Given the description of an element on the screen output the (x, y) to click on. 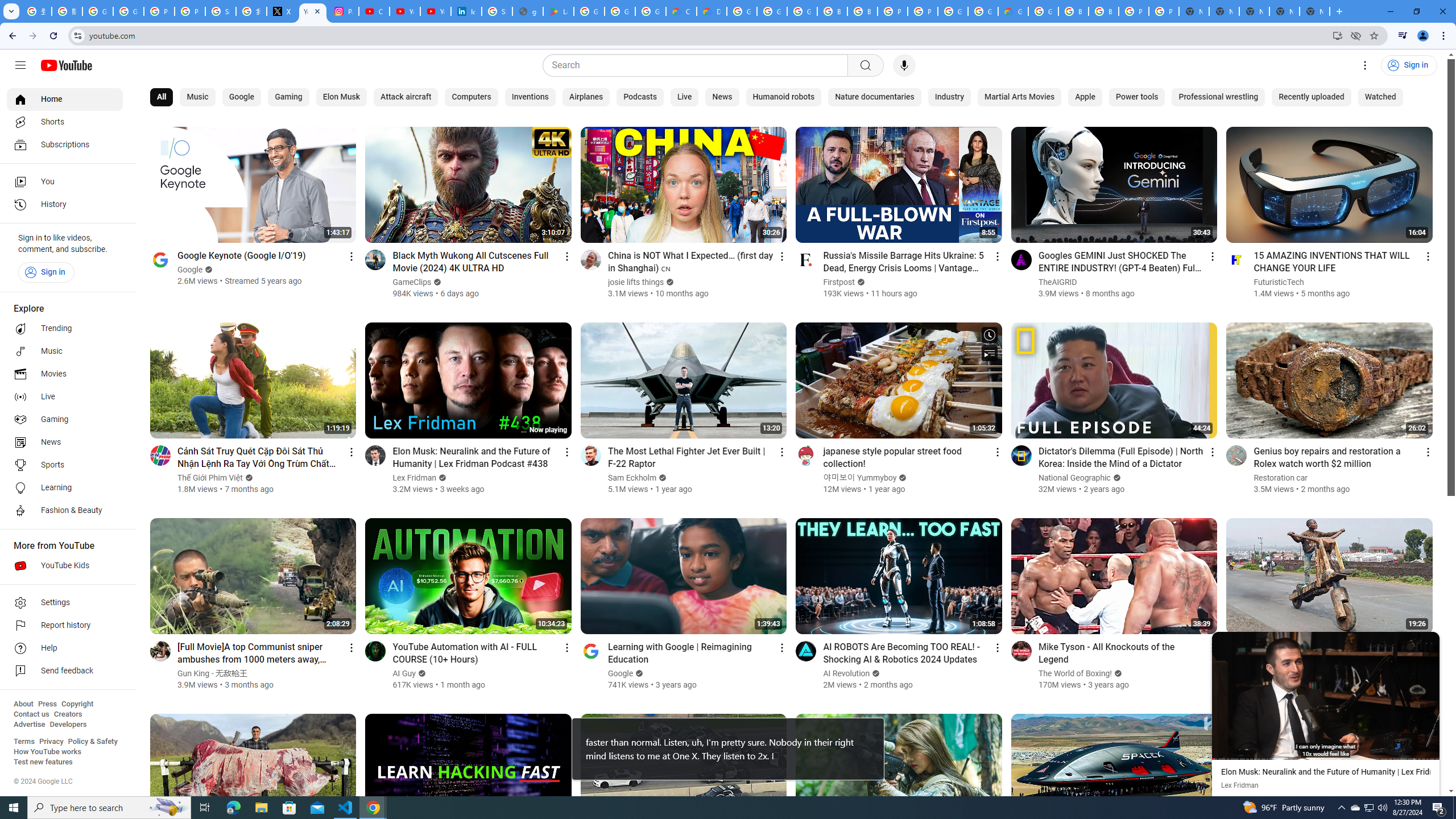
Browse Chrome as a guest - Computer - Google Chrome Help (832, 11)
Gaming (287, 97)
Report history (64, 625)
Inventions (529, 97)
National Geographic (1075, 477)
Google Workspace - Specific Terms (650, 11)
Google Cloud Platform (741, 11)
Next (SHIFT+n) (1382, 694)
FuturisticTech (1278, 282)
Music (197, 97)
GameClips (412, 282)
